Given the description of an element on the screen output the (x, y) to click on. 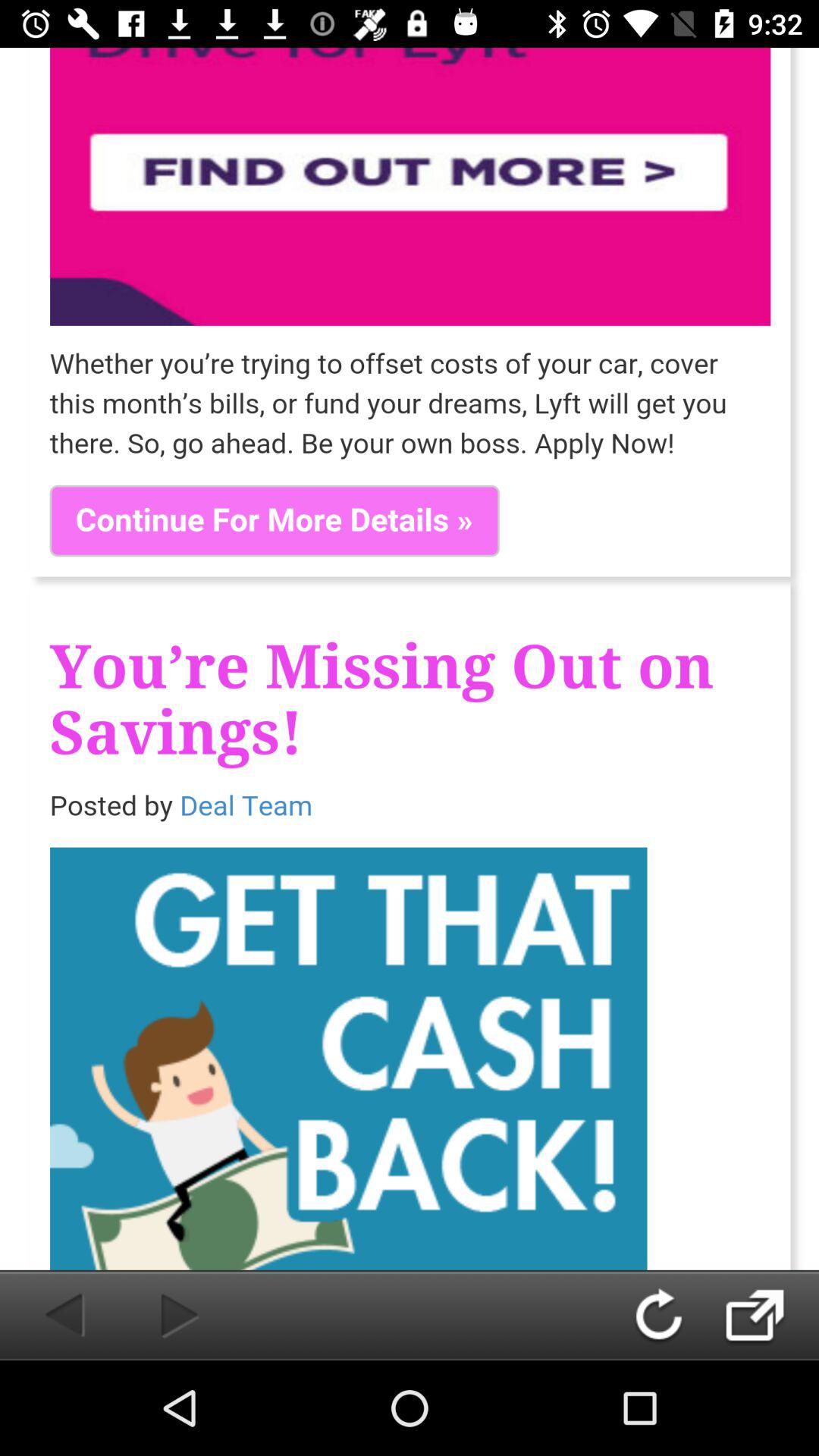
forward (154, 1315)
